Given the description of an element on the screen output the (x, y) to click on. 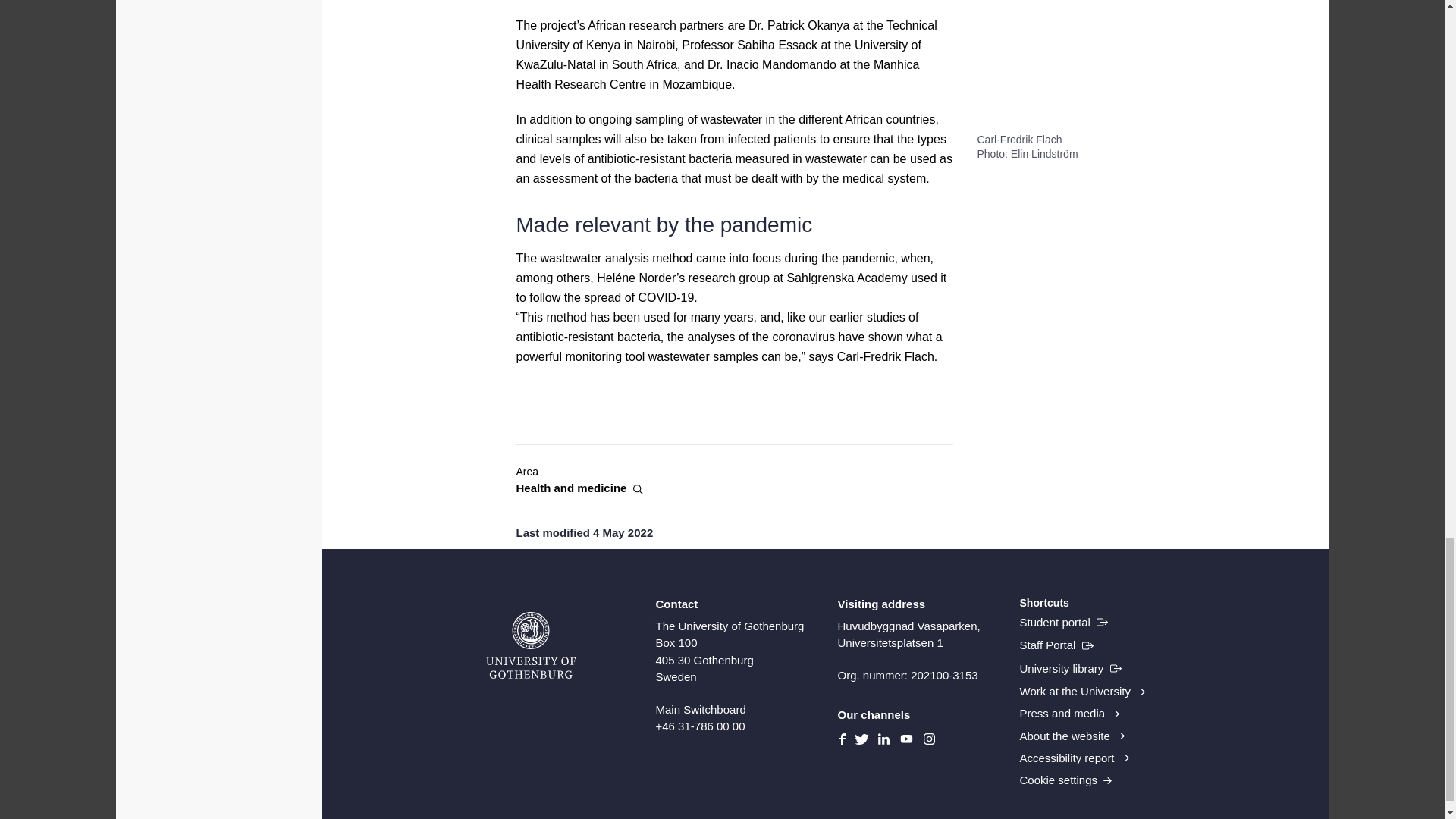
External link (1063, 622)
External link (1070, 669)
External link (1056, 645)
